Given the description of an element on the screen output the (x, y) to click on. 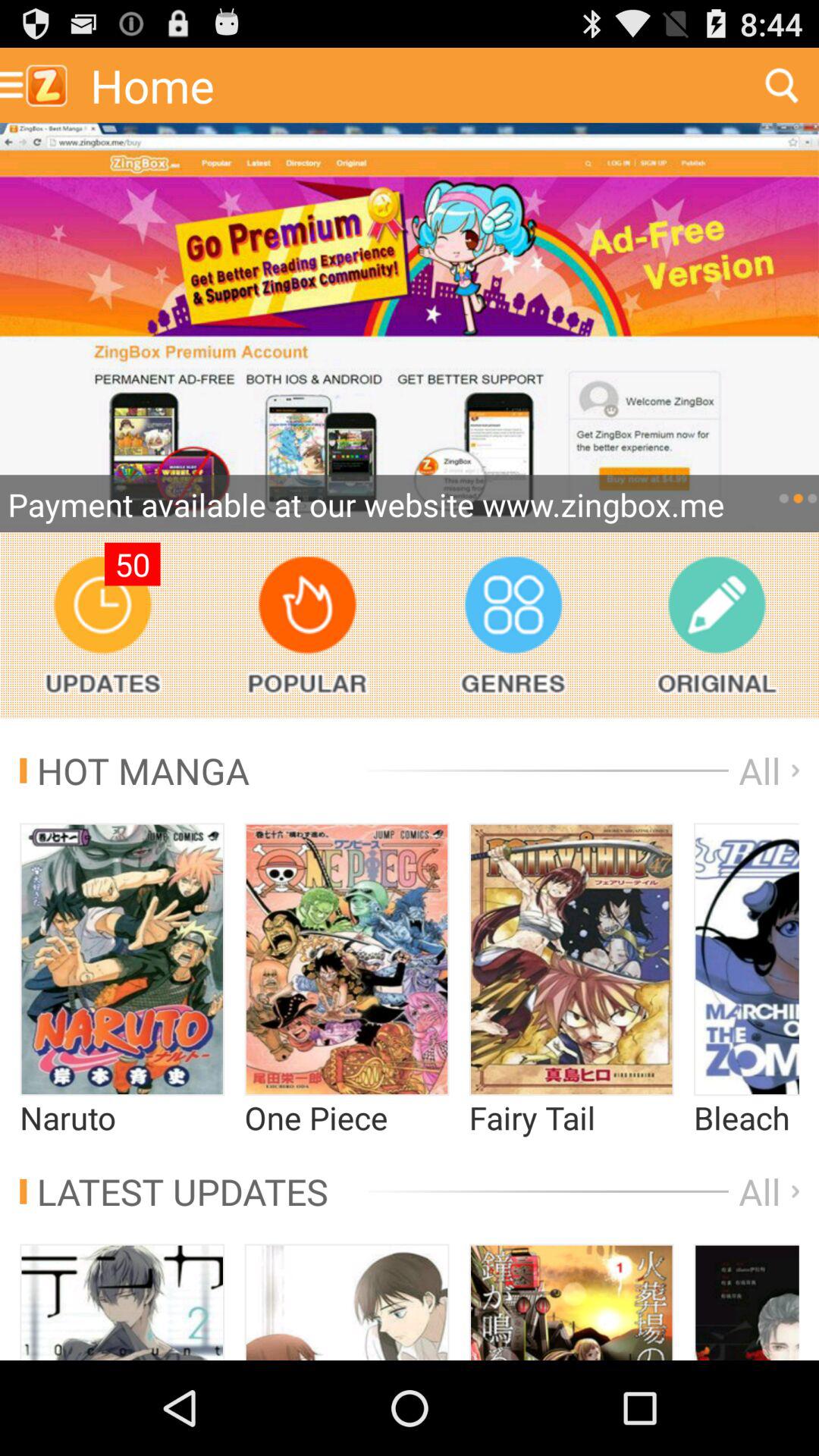
open file (746, 958)
